Given the description of an element on the screen output the (x, y) to click on. 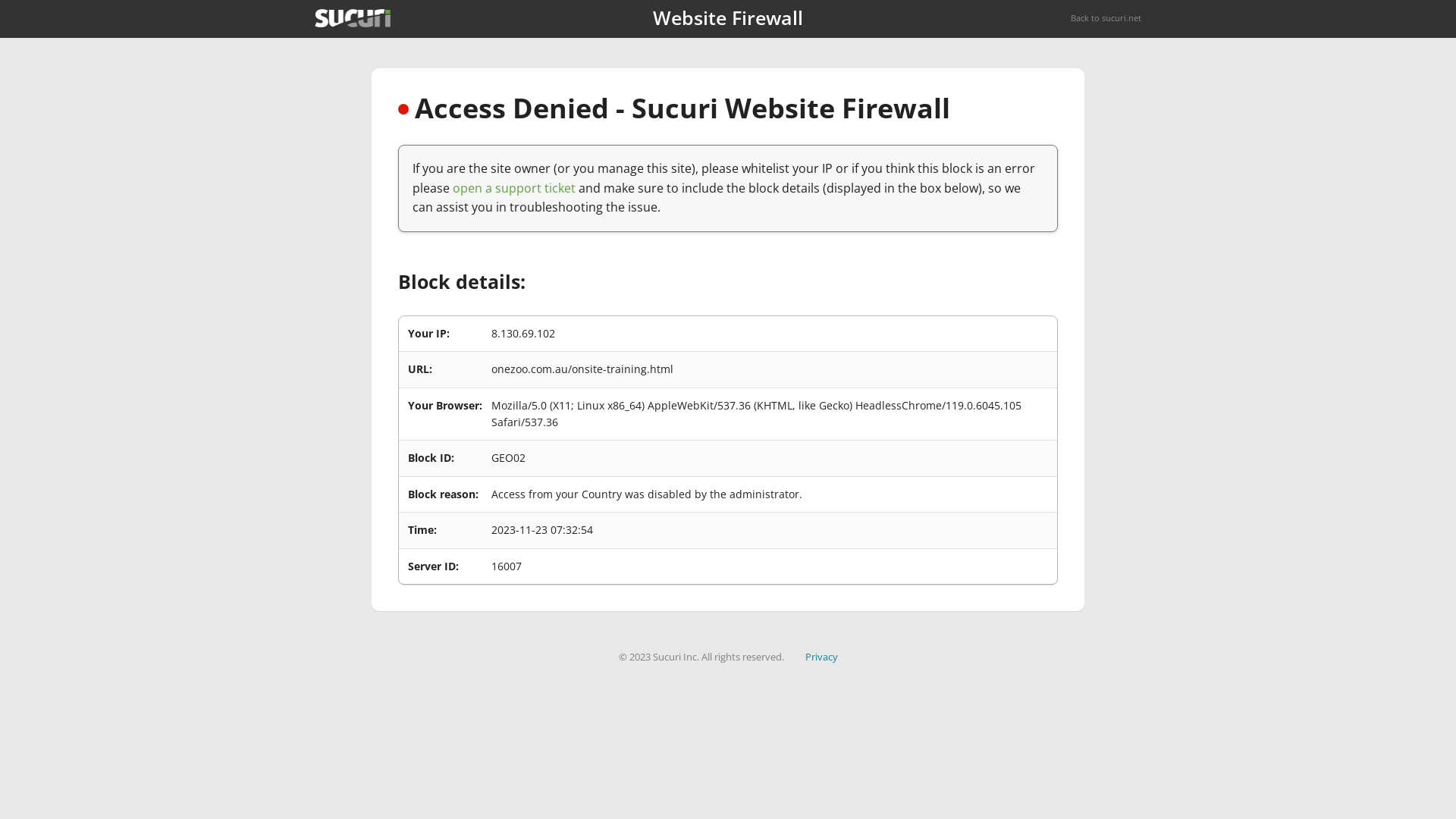
Privacy Element type: text (821, 656)
Back to sucuri.net Element type: text (1105, 18)
open a support ticket Element type: text (513, 187)
